Given the description of an element on the screen output the (x, y) to click on. 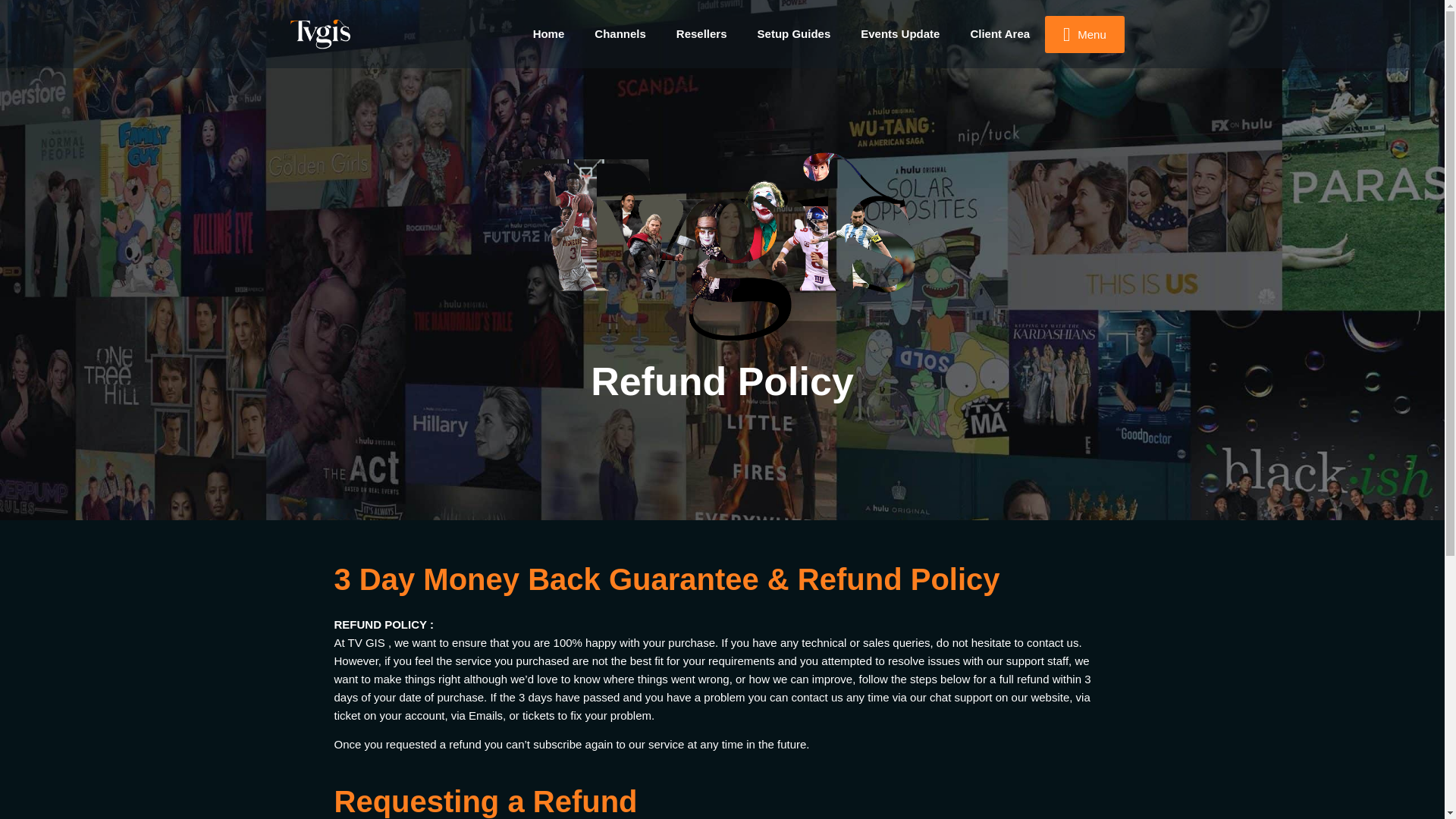
Setup Guides (793, 33)
Channels (620, 33)
Client Area (1000, 33)
Resellers (701, 33)
Events Update (900, 33)
Home (548, 33)
